Given the description of an element on the screen output the (x, y) to click on. 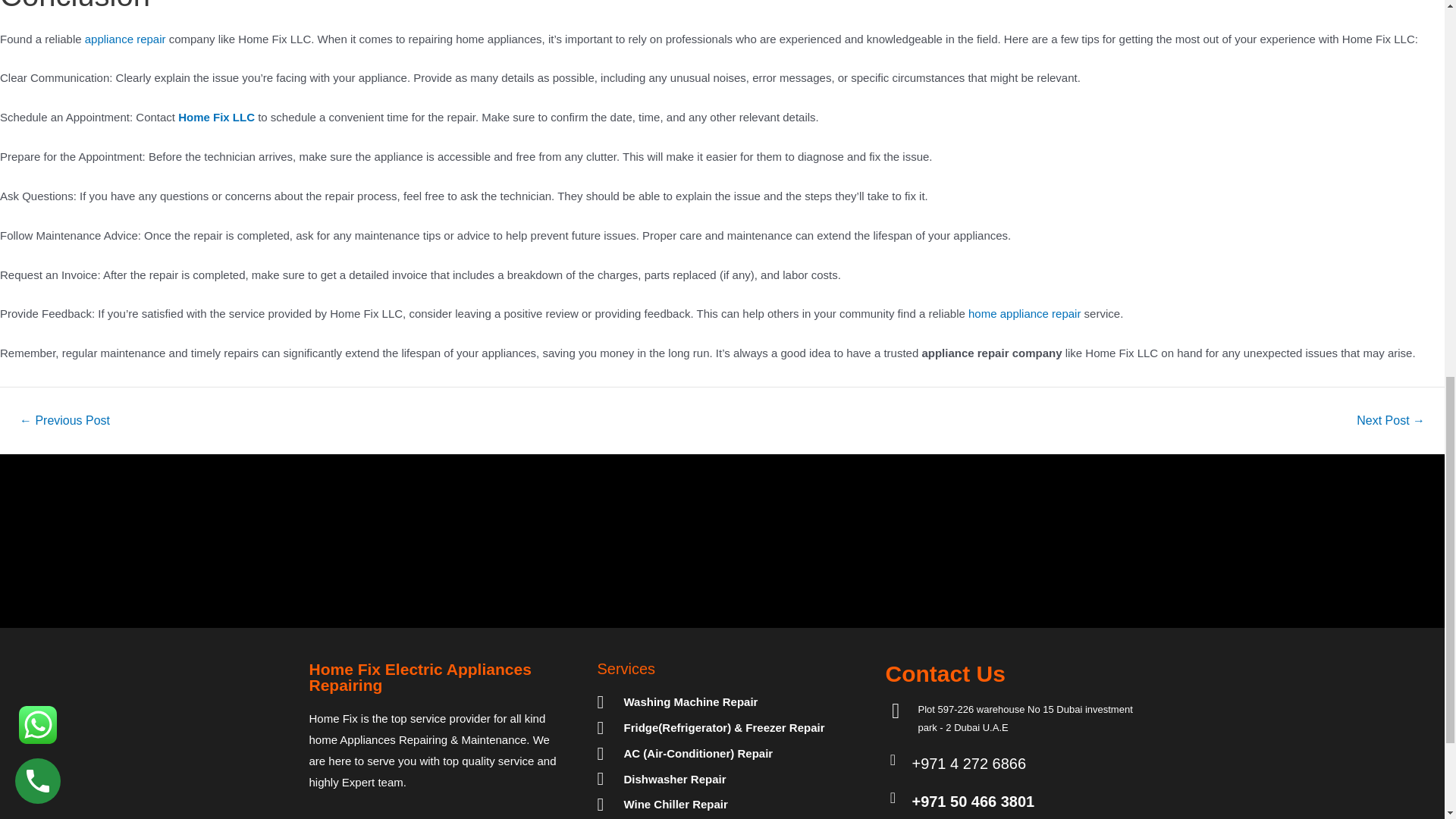
Home Fix LLC (215, 116)
appliance repair (124, 38)
home appliance repair (1024, 313)
